Given the description of an element on the screen output the (x, y) to click on. 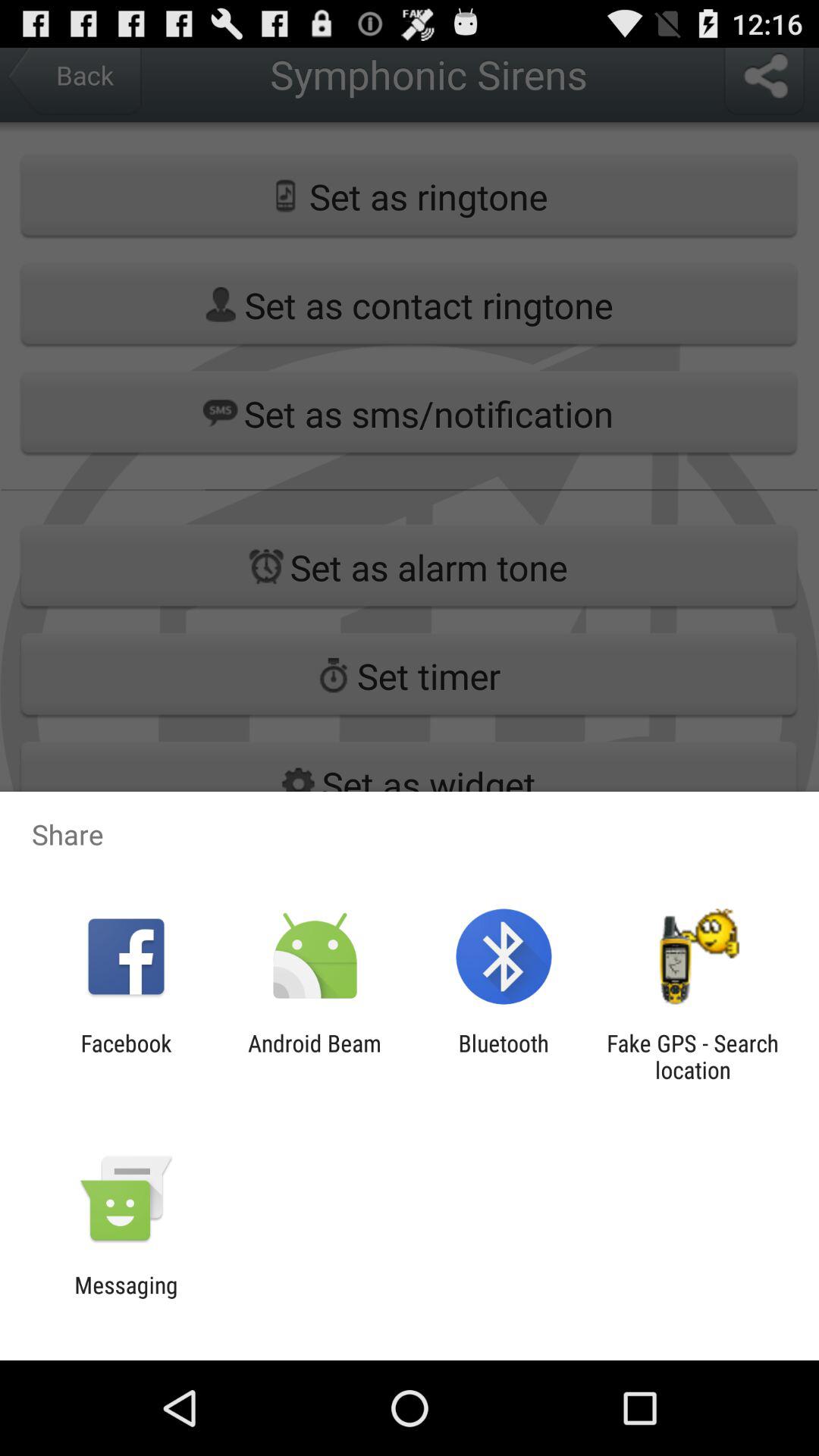
choose the facebook (125, 1056)
